Given the description of an element on the screen output the (x, y) to click on. 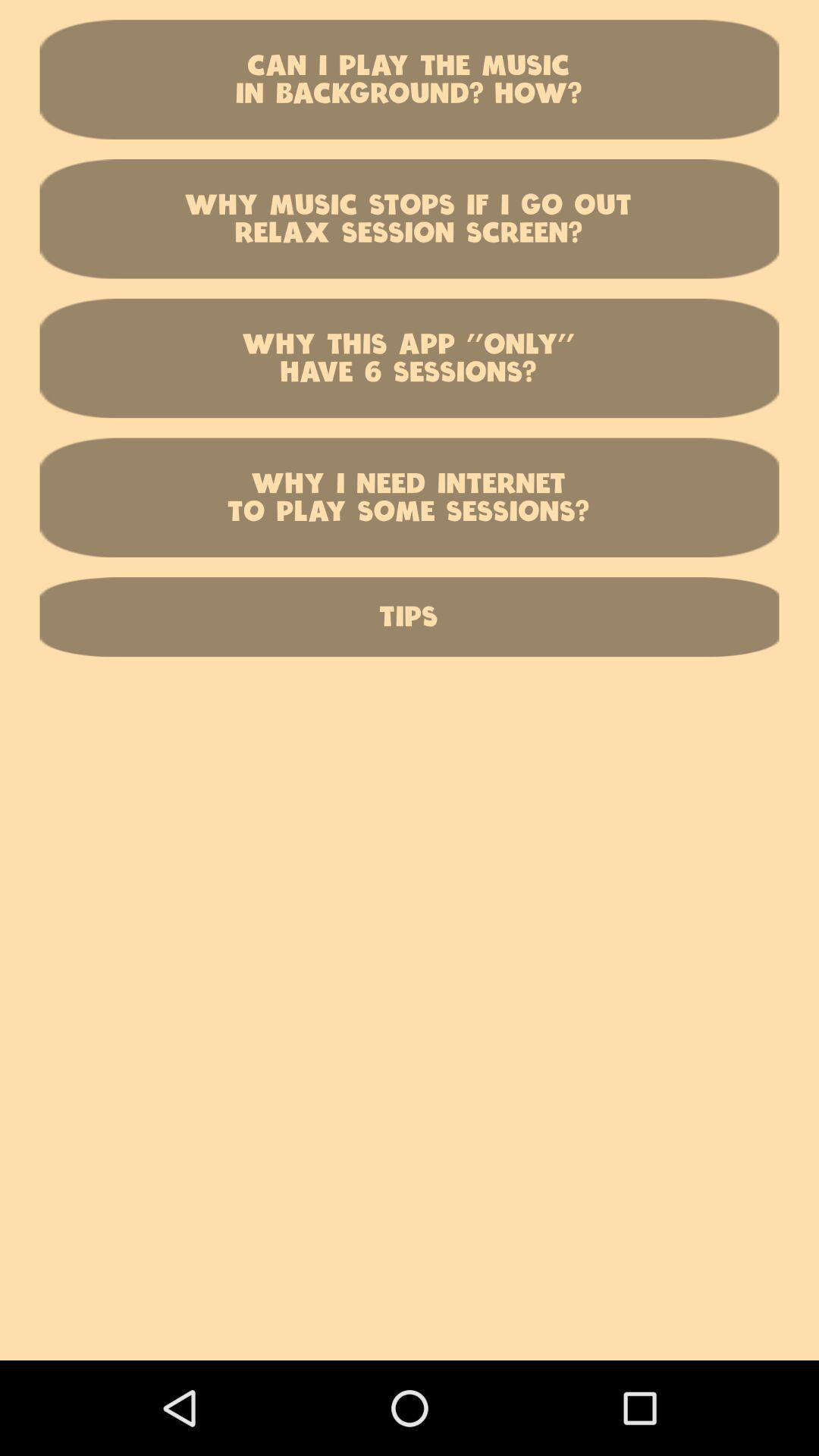
open the item below the why i need icon (409, 616)
